Given the description of an element on the screen output the (x, y) to click on. 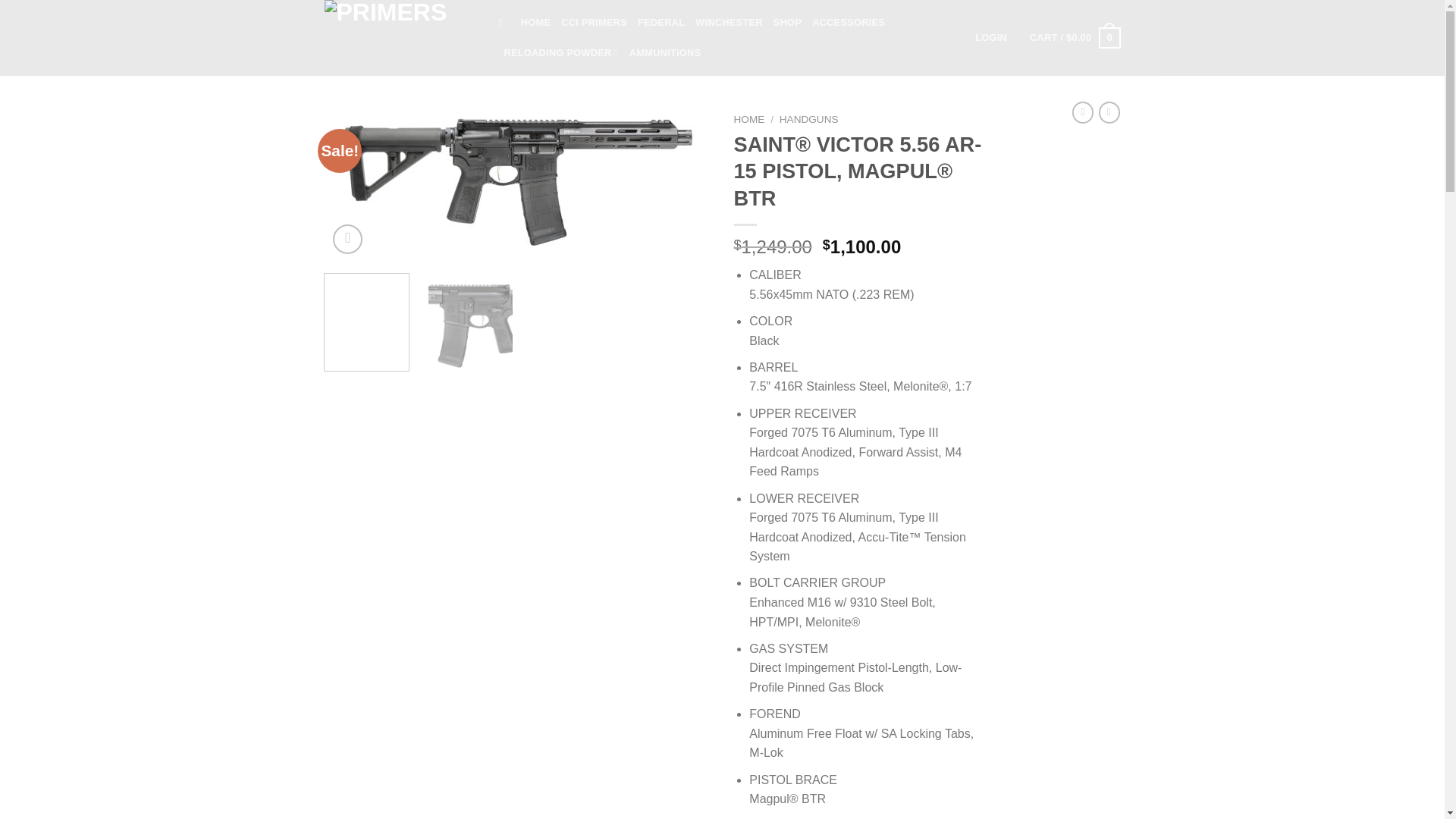
CCI PRIMERS (593, 22)
ACCESSORIES (848, 22)
LOGIN (991, 37)
RELOADING POWDER (560, 52)
WINCHESTER (728, 22)
SHOP (787, 22)
Cart (1074, 37)
HANDGUNS (808, 119)
HOME (535, 22)
HOME (749, 119)
AMMUNITIONS (664, 52)
FEDERAL (660, 22)
Zoom (347, 238)
